Given the description of an element on the screen output the (x, y) to click on. 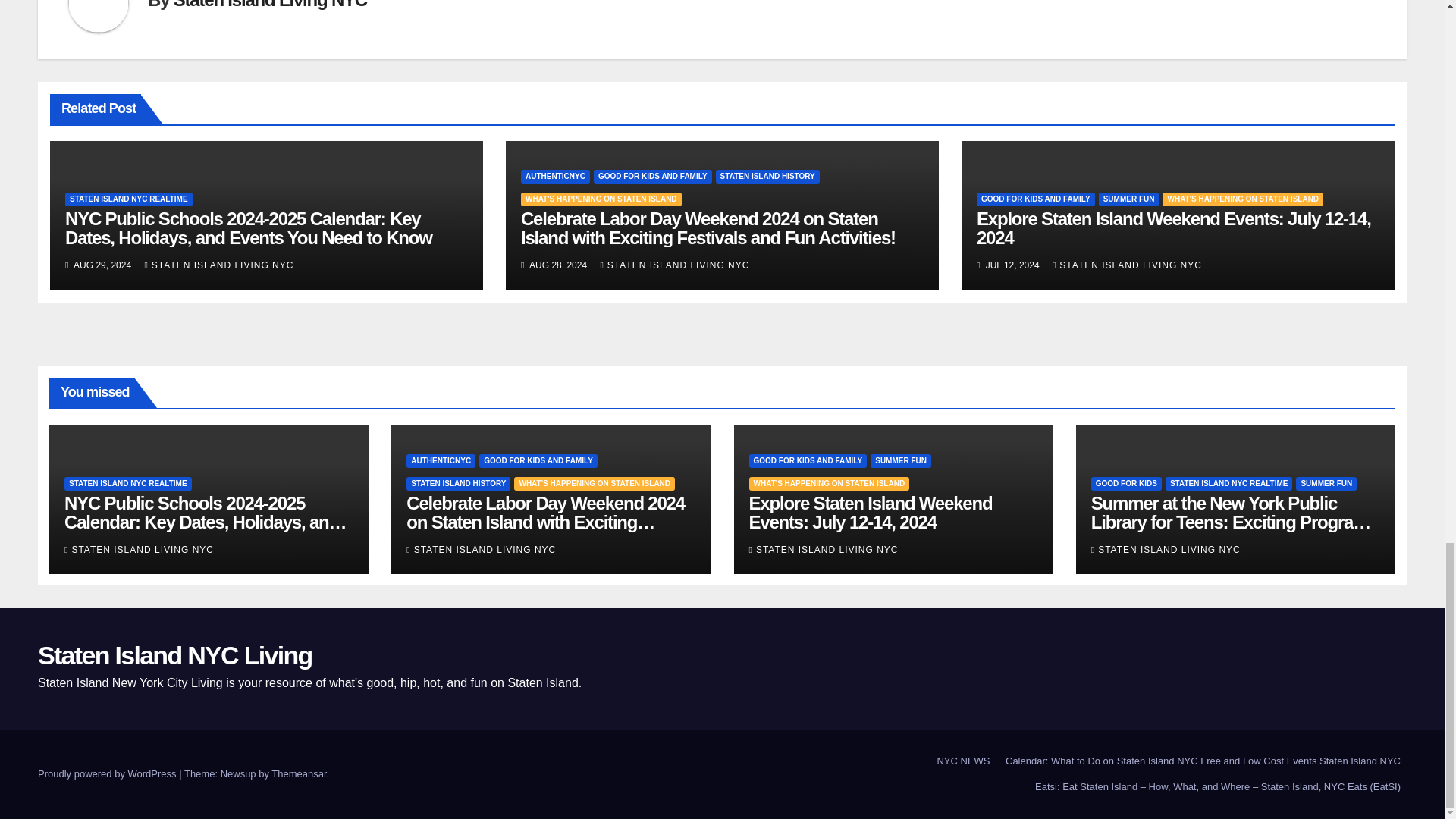
NYC NEWS (962, 760)
